Given the description of an element on the screen output the (x, y) to click on. 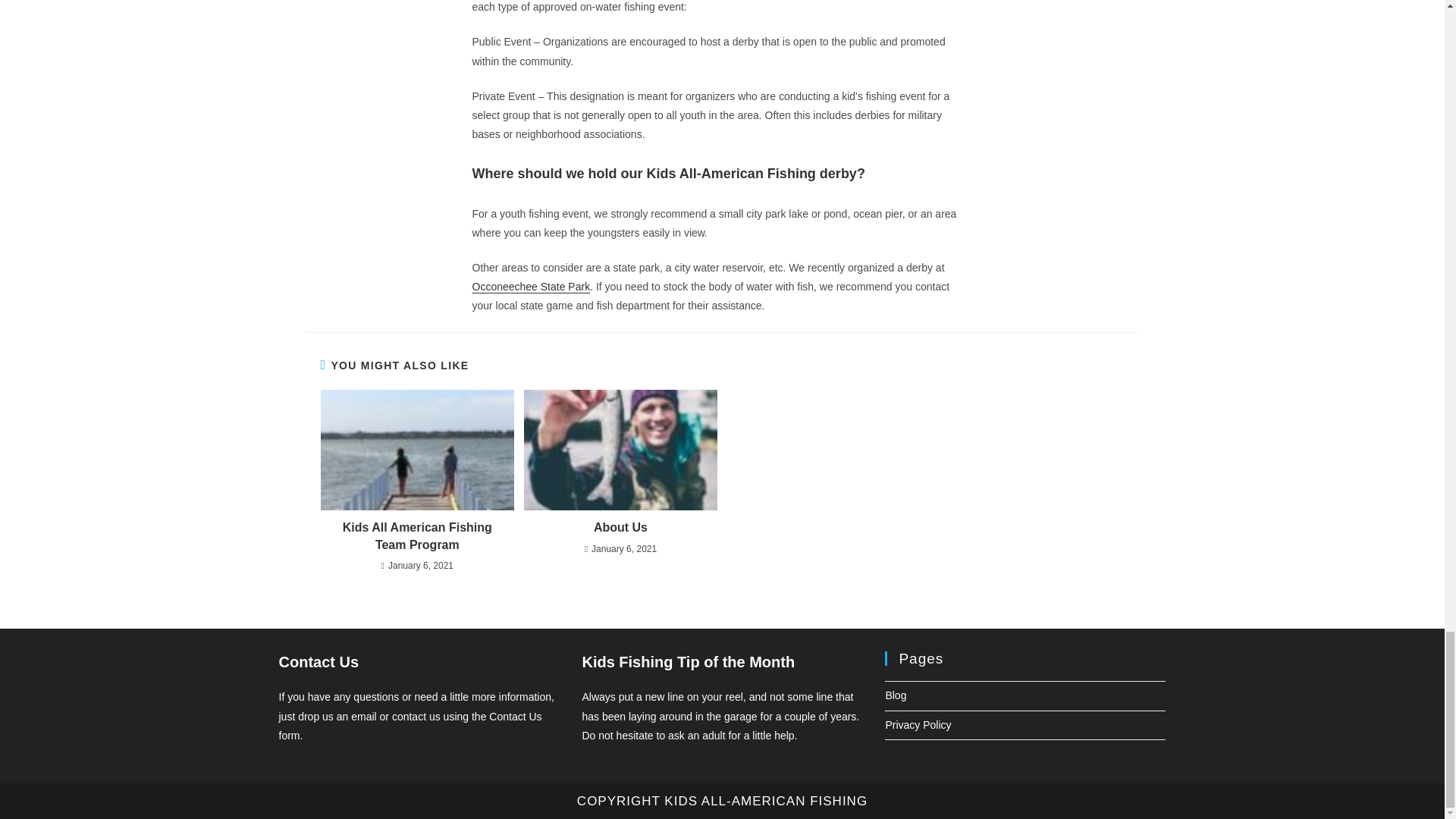
Occoneechee State Park (530, 286)
Privacy Policy (917, 725)
Kids All American Fishing Team Program (417, 536)
Blog (895, 695)
About Us (620, 527)
